Given the description of an element on the screen output the (x, y) to click on. 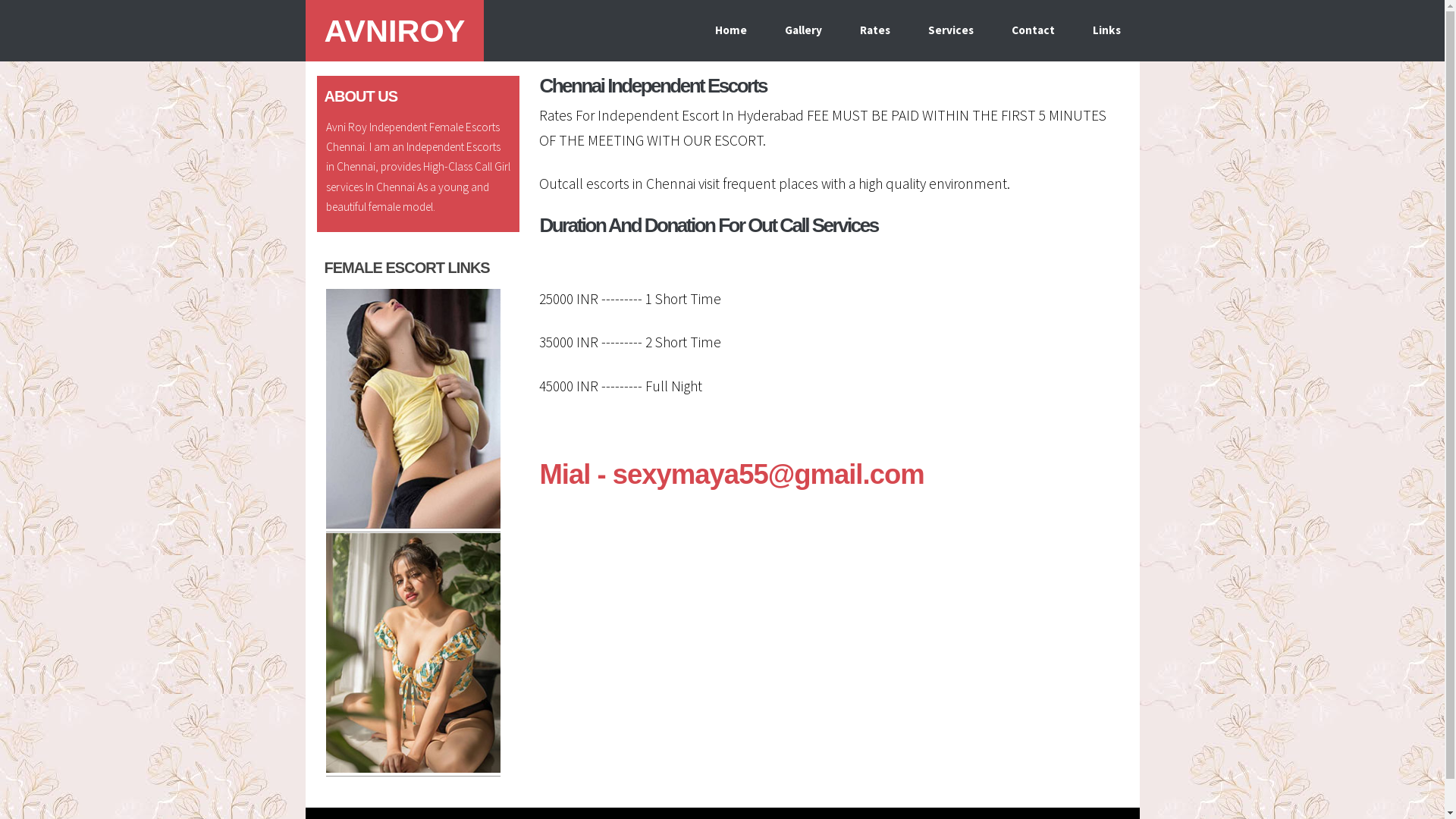
Contact Element type: text (1032, 29)
Rates Element type: text (874, 29)
Home Element type: text (730, 29)
AVNIROY Element type: text (393, 30)
Services Element type: text (949, 29)
Gallery Element type: text (802, 29)
Links Element type: text (1106, 29)
